Given the description of an element on the screen output the (x, y) to click on. 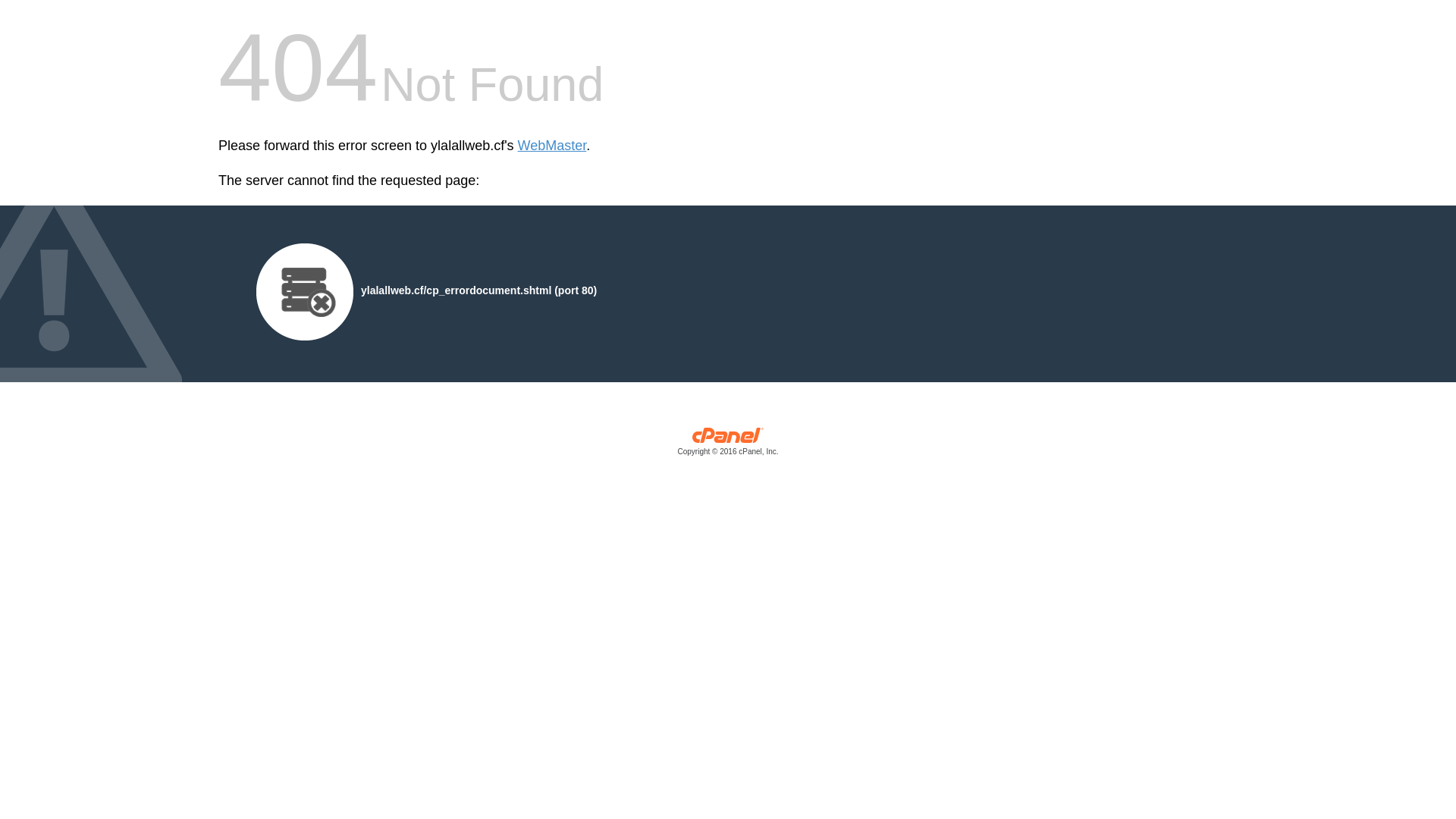
WebMaster Element type: text (551, 145)
